Given the description of an element on the screen output the (x, y) to click on. 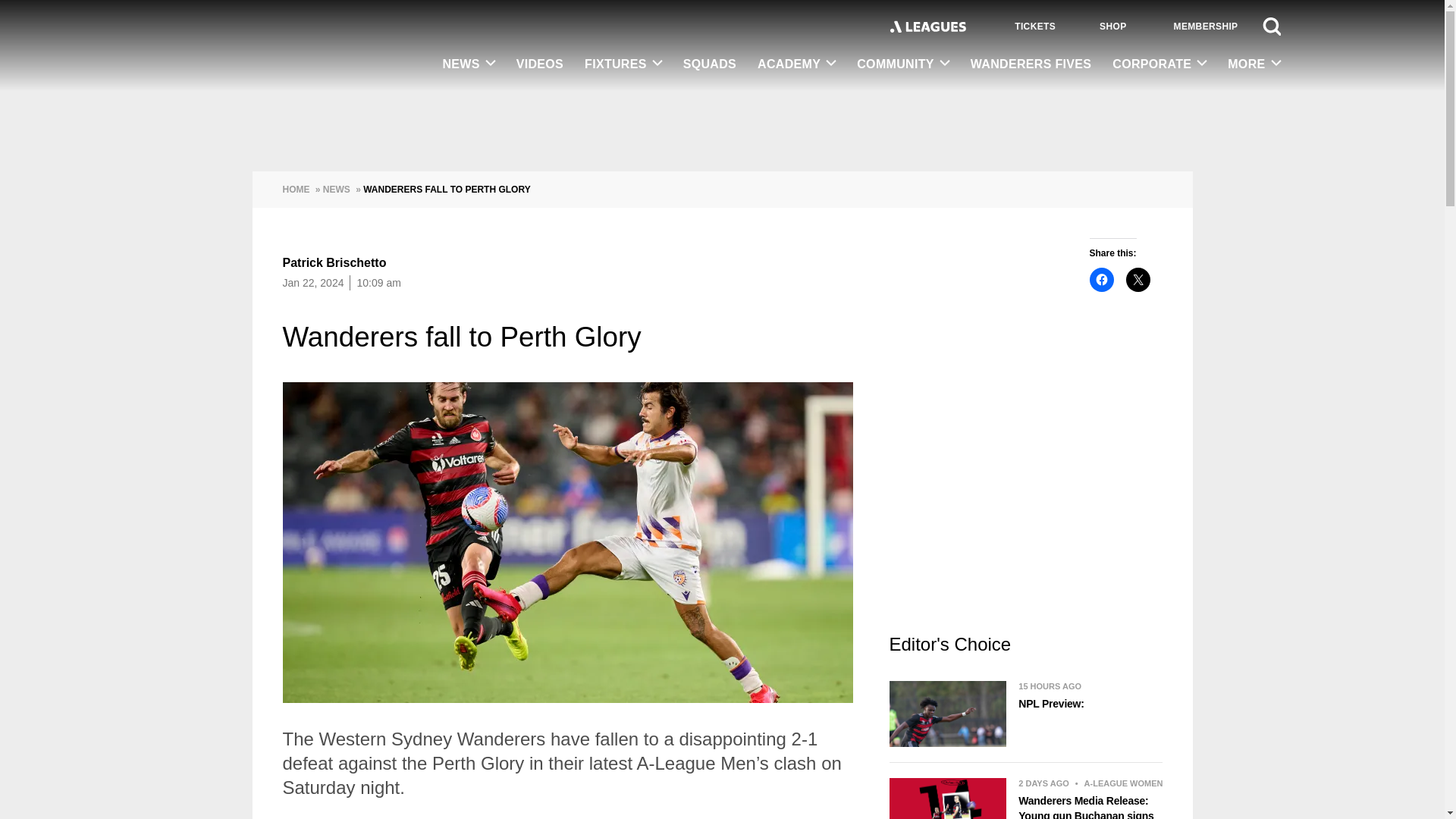
ACADEMY (795, 64)
COMMUNITY (902, 64)
WANDERERS FIVES (1030, 65)
NEWS (467, 64)
VIDEOS (539, 65)
Click to share on Facebook (1101, 279)
FIXTURES (622, 64)
SQUADS (709, 65)
Click to share on X (1137, 279)
3rd party ad content (1024, 506)
